Given the description of an element on the screen output the (x, y) to click on. 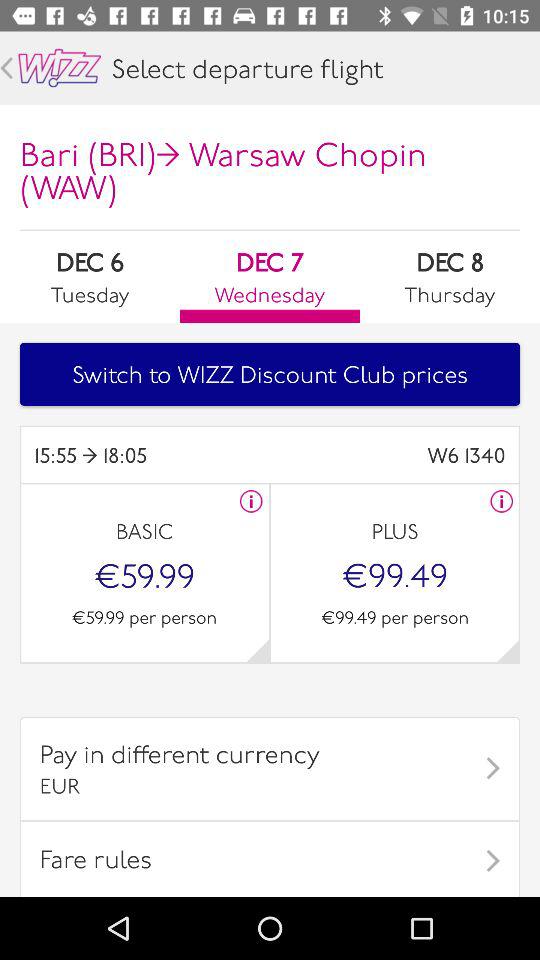
wizz (59, 68)
